Given the description of an element on the screen output the (x, y) to click on. 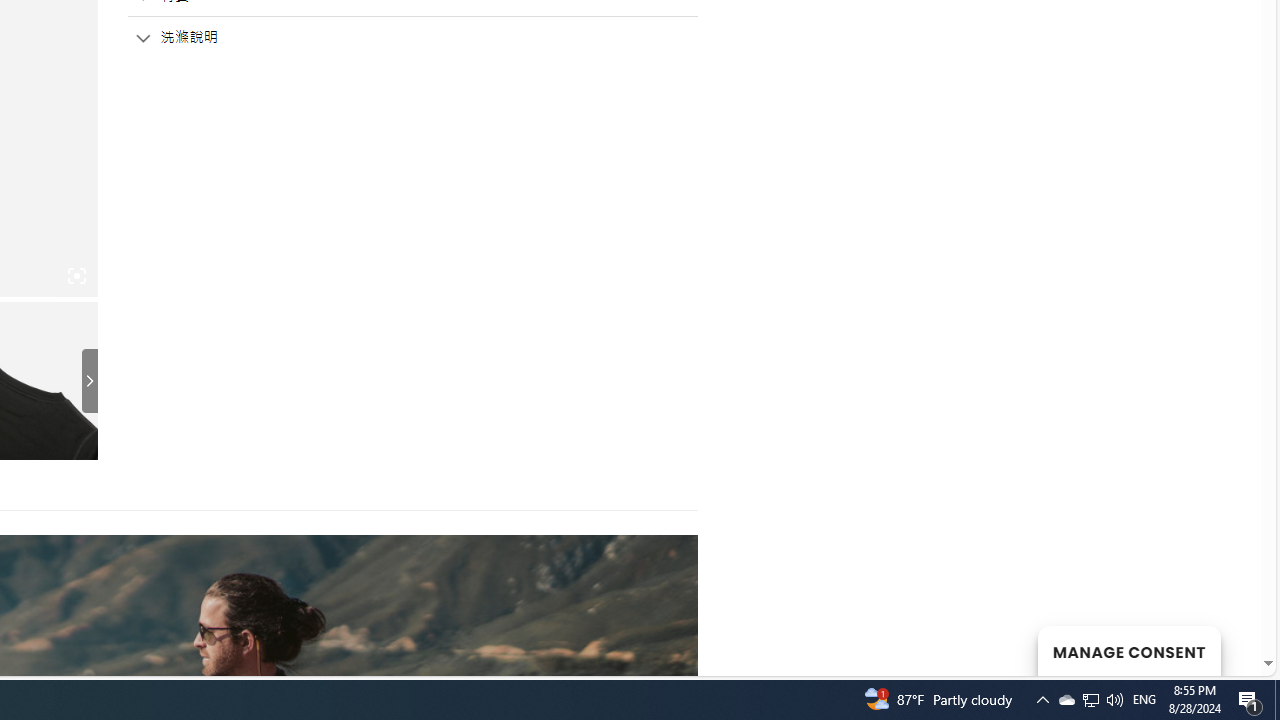
Class: iconic-woothumbs-fullscreen (75, 276)
MANAGE CONSENT (1128, 650)
